Given the description of an element on the screen output the (x, y) to click on. 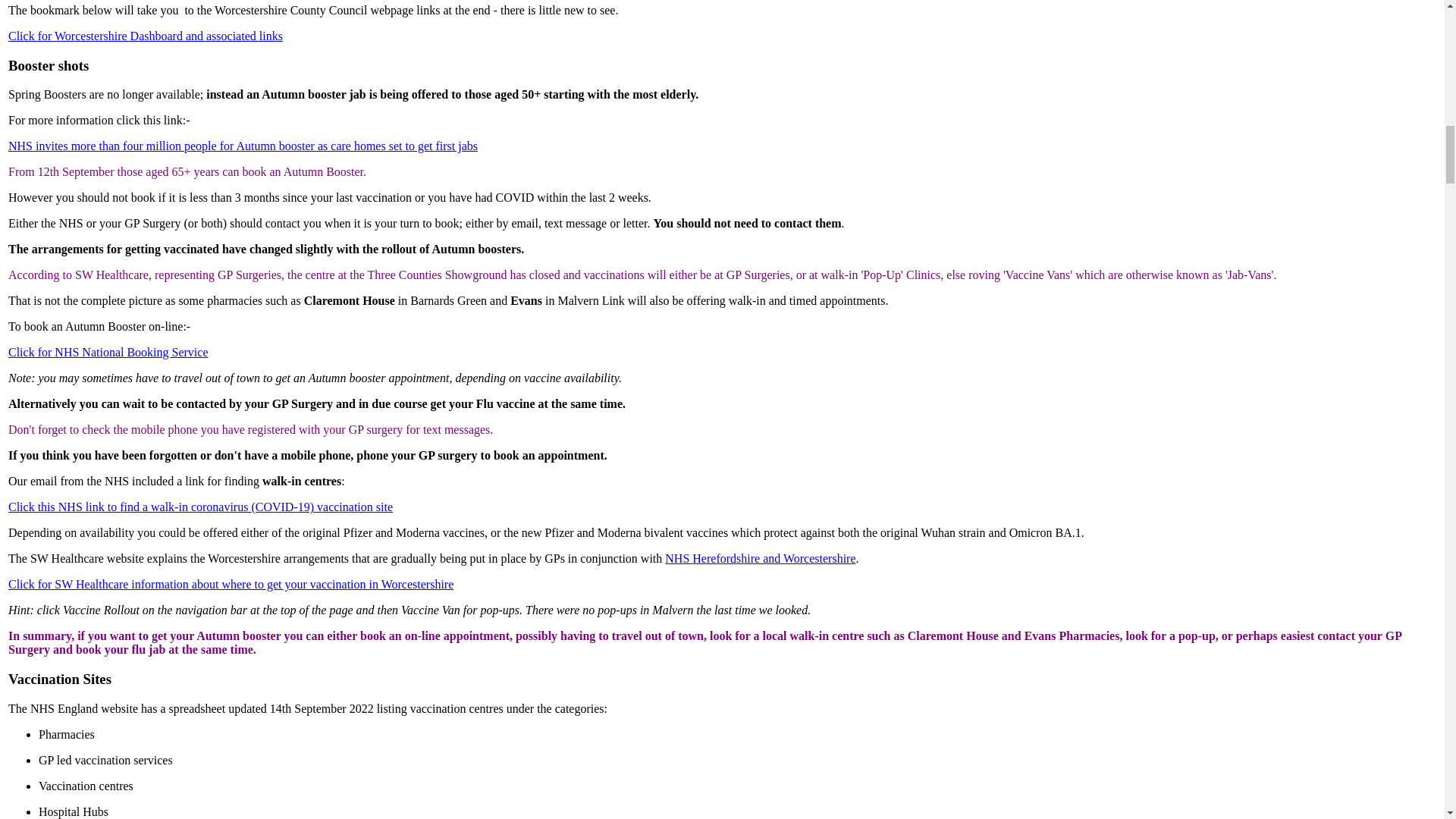
Click for Worcestershire Dashboard and associated links (145, 35)
NHS Herefordshire and Worcestershire (760, 558)
Click for NHS National Booking Service (108, 351)
